Given the description of an element on the screen output the (x, y) to click on. 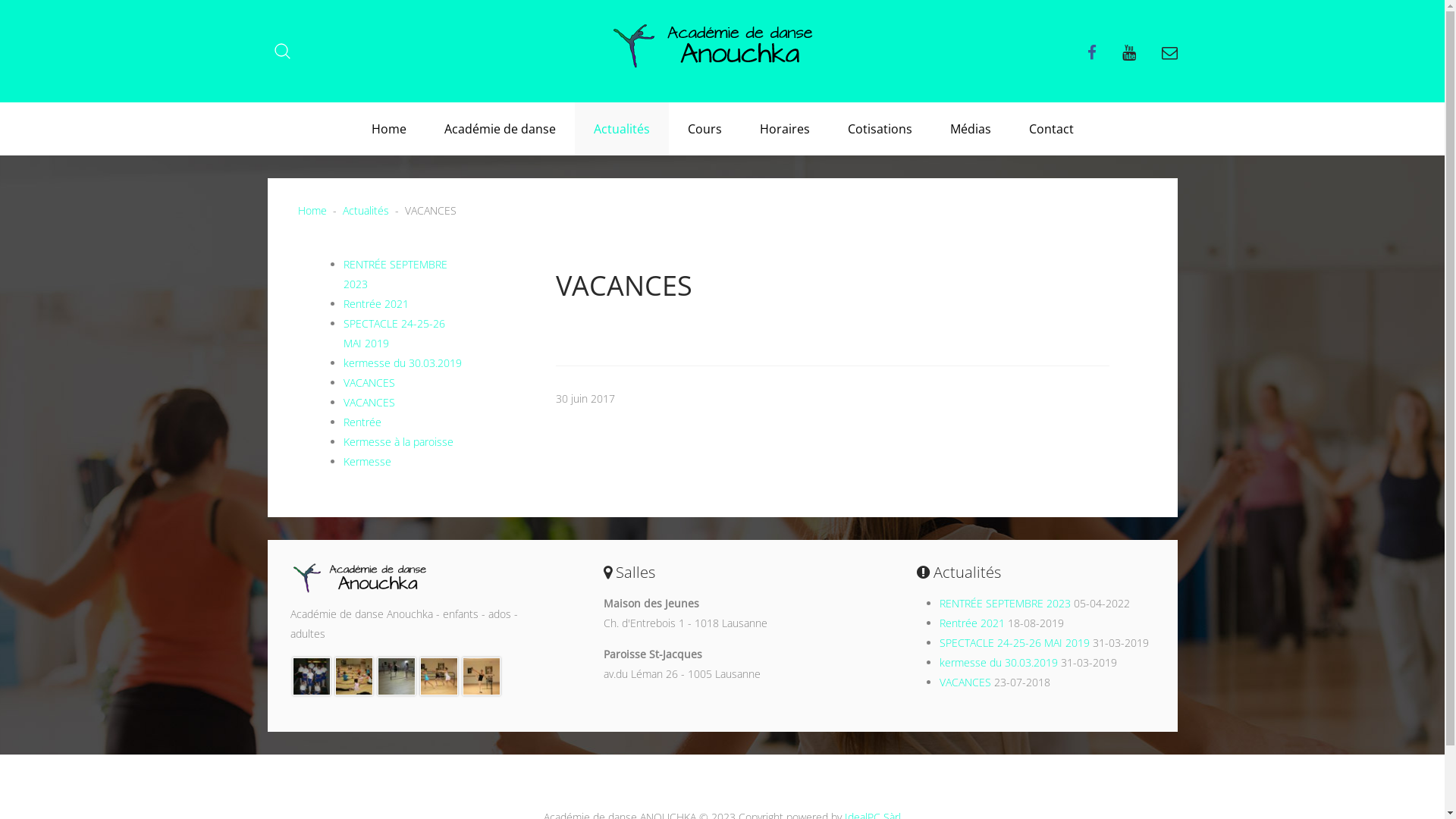
20170915_182031 Element type: hover (396, 675)
img_7431 Element type: hover (481, 675)
SPECTACLE 24-25-26 MAI 2019 Element type: text (393, 333)
kermesse du 30.03.2019 Element type: text (401, 362)
VACANCES Element type: text (965, 681)
Home Element type: text (311, 210)
img_7485 Element type: hover (354, 675)
Cours Element type: text (704, 128)
VACANCES Element type: text (368, 382)
Contact Element type: text (1051, 128)
VACANCES Element type: text (368, 402)
img_7533 Element type: hover (439, 675)
Home Element type: text (387, 128)
SPECTACLE 24-25-26 MAI 2019 Element type: text (1014, 642)
kermesse du 30.03.2019 Element type: text (998, 662)
Cotisations Element type: text (879, 128)
Horaires Element type: text (784, 128)
Kermesse Element type: text (366, 461)
img_4612 Element type: hover (311, 675)
